Given the description of an element on the screen output the (x, y) to click on. 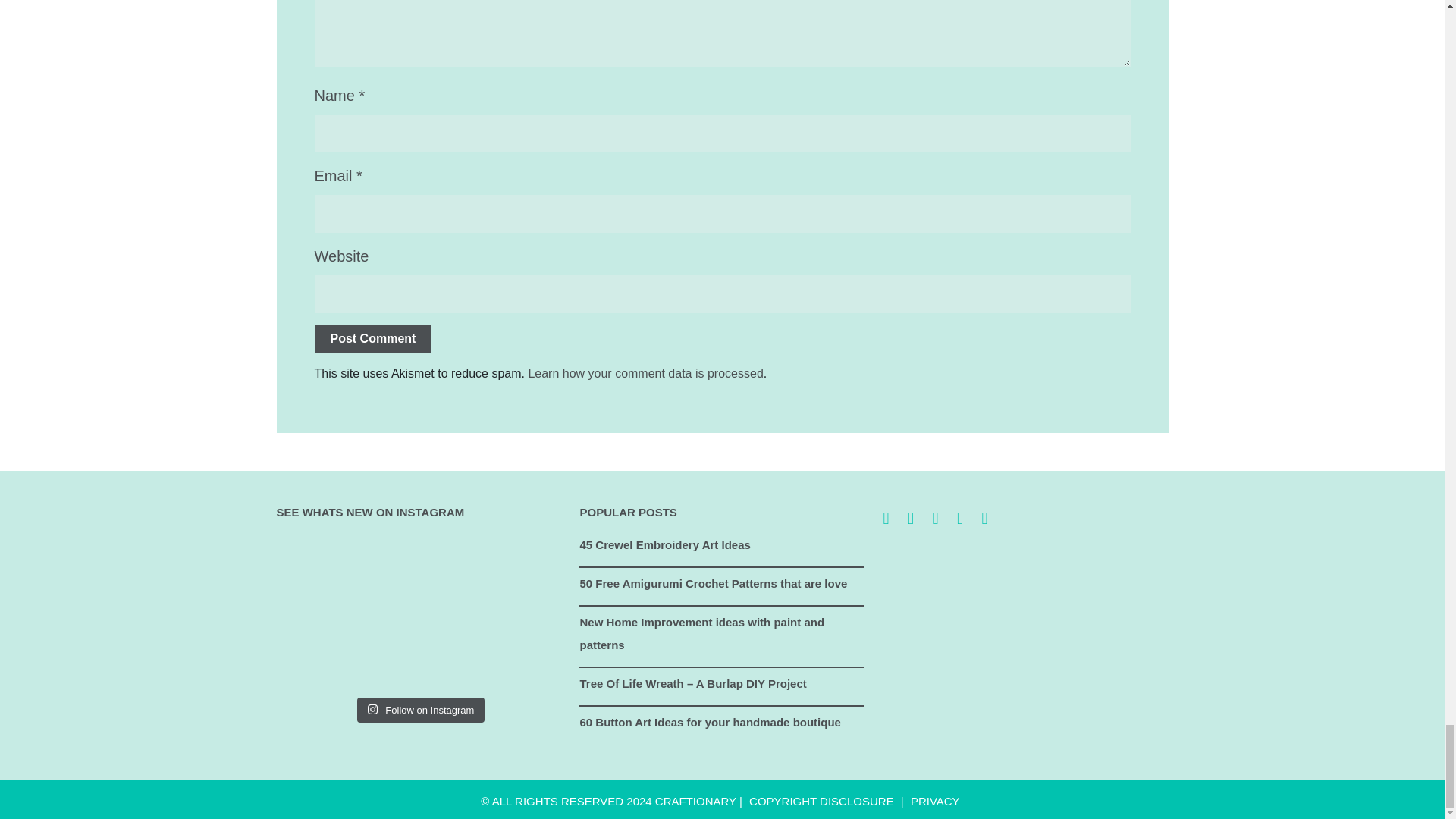
Post Comment (372, 338)
